Given the description of an element on the screen output the (x, y) to click on. 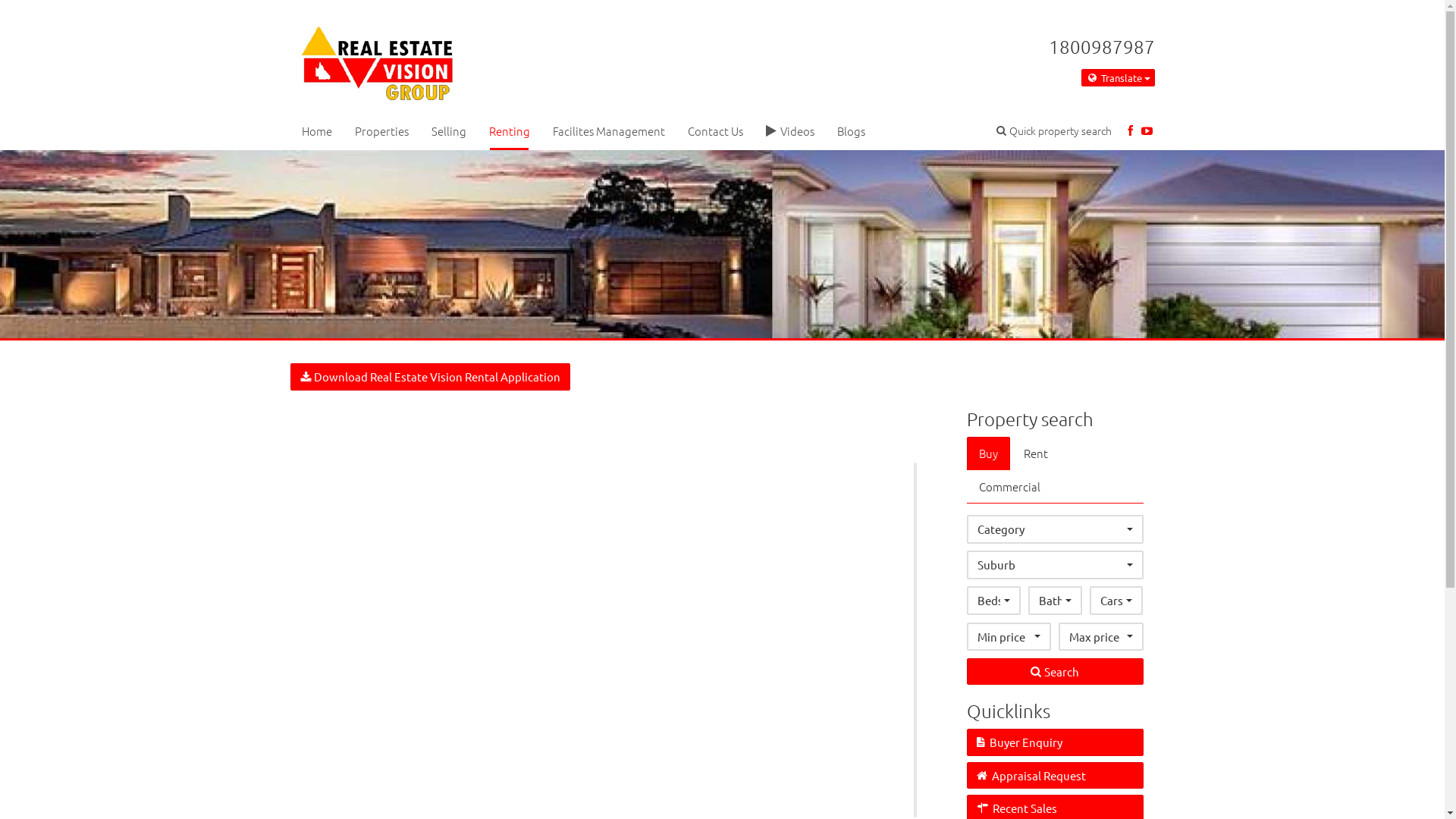
Suburb
  Element type: text (1054, 564)
Contact Us Element type: text (715, 130)
Real Estate Vision Group Element type: hover (376, 59)
Commercial Element type: text (1009, 486)
Home Element type: text (315, 130)
Buy Element type: text (988, 452)
Buyer Enquiry Element type: text (1054, 741)
Selling Element type: text (448, 130)
Cars
  Element type: text (1116, 600)
Renting Element type: text (509, 130)
Videos Element type: text (789, 130)
download Download Real Estate Vision Rental Application Element type: text (429, 376)
Appraisal Request Element type: text (1054, 775)
Baths
  Element type: text (1055, 600)
Min price
  Element type: text (1008, 636)
Translate Element type: text (1117, 78)
Beds
  Element type: text (993, 600)
Blogs Element type: text (850, 130)
Rent Element type: text (1035, 452)
Max price
  Element type: text (1100, 636)
Facilites Management Element type: text (608, 130)
Category
  Element type: text (1054, 528)
Properties Element type: text (380, 130)
Quick property search Element type: text (1054, 130)
Search Element type: text (1054, 671)
